Given the description of an element on the screen output the (x, y) to click on. 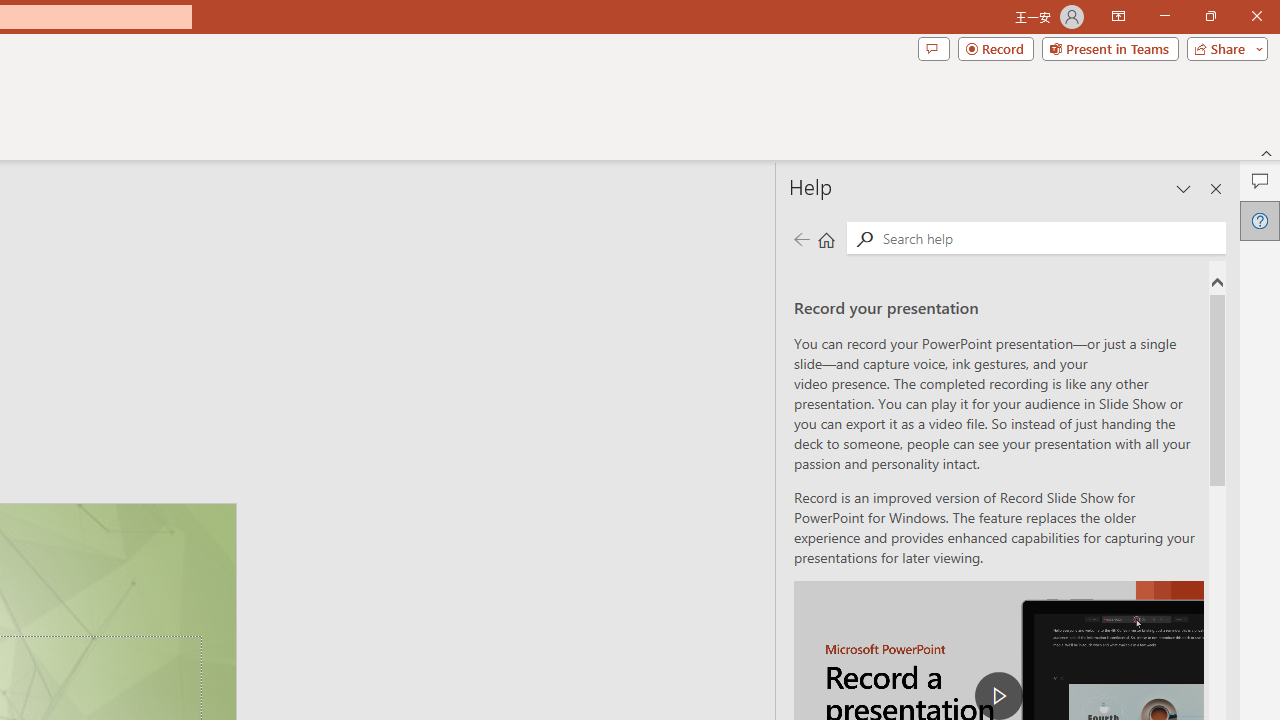
play Record a Presentation (998, 695)
